Given the description of an element on the screen output the (x, y) to click on. 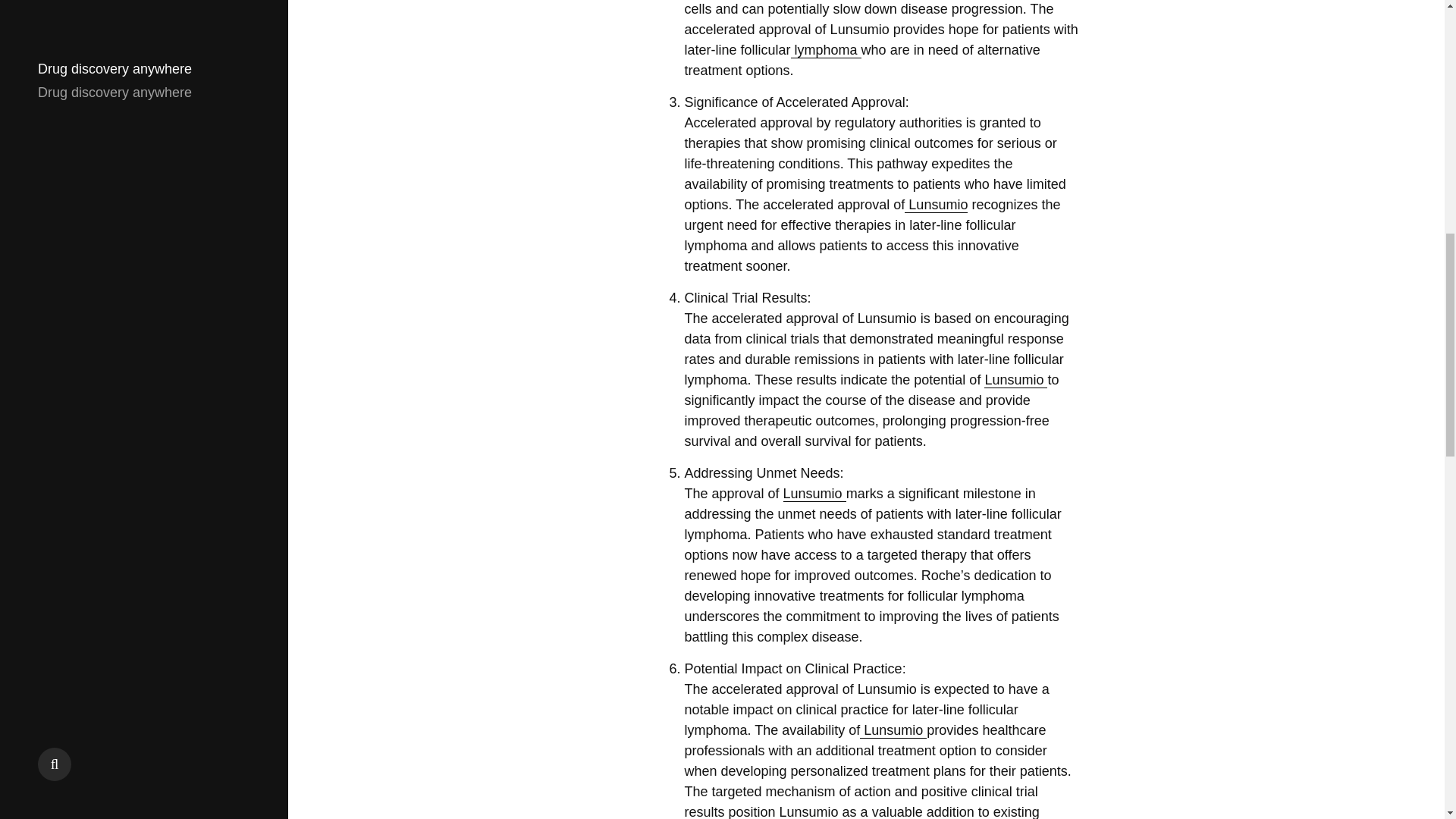
Lunsumio (1015, 380)
Lunsumio (936, 204)
lymphoma (825, 50)
Lunsumio (814, 494)
Lunsumio (893, 730)
